Given the description of an element on the screen output the (x, y) to click on. 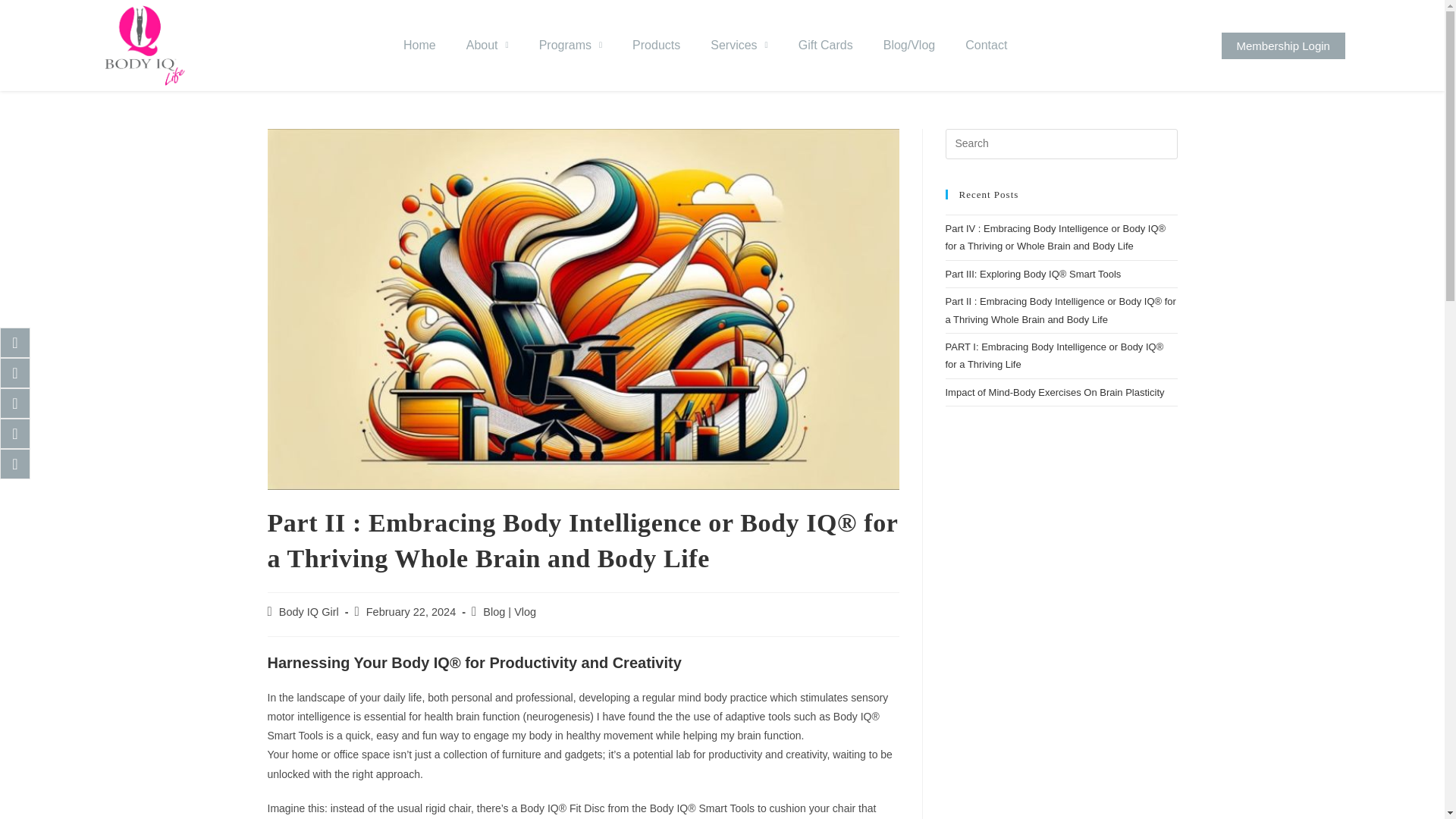
Posts by Body IQ Girl (309, 612)
Programs (570, 45)
Products (656, 45)
About (487, 45)
Services (739, 45)
Gift Cards (825, 45)
Contact (986, 45)
Home (419, 45)
